Given the description of an element on the screen output the (x, y) to click on. 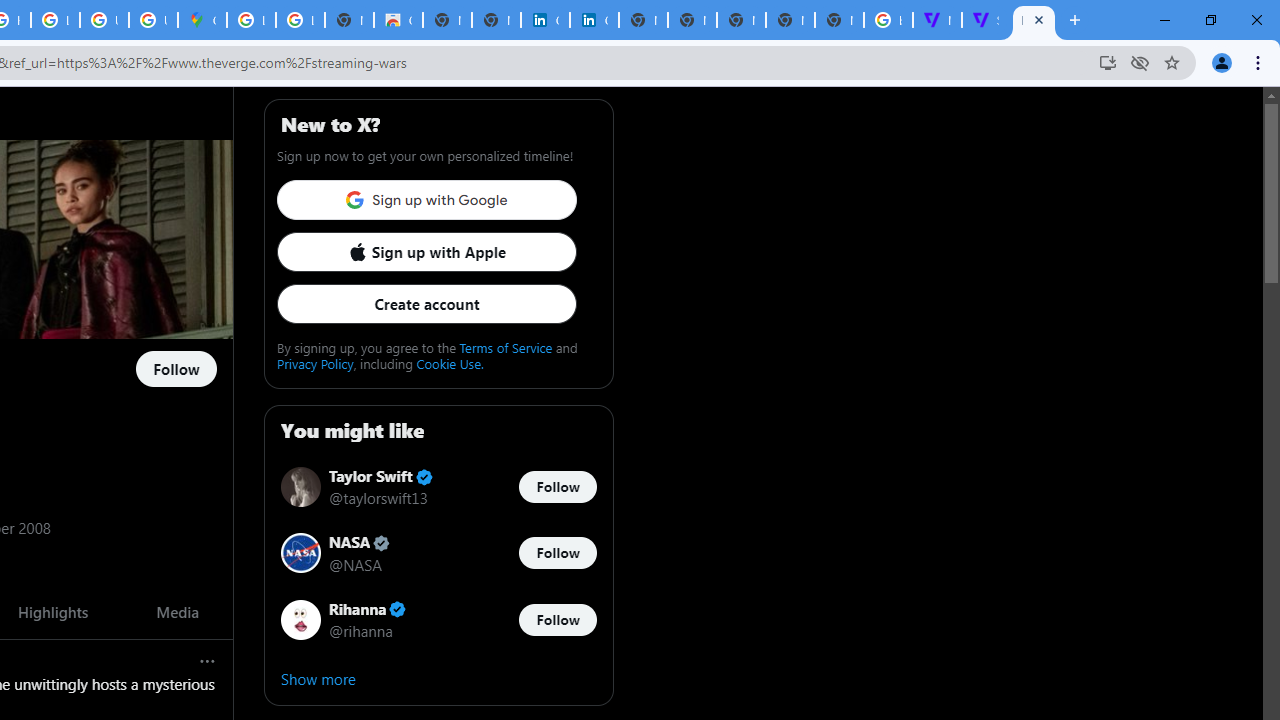
@rihanna (360, 629)
Follow @netflix (176, 369)
NASA Verified account @NASA Follow @NASA (438, 552)
New Tab (839, 20)
Chrome Web Store (398, 20)
Verified account (397, 609)
Netflix (@netflix) / X (1033, 20)
Google Maps (201, 20)
